Given the description of an element on the screen output the (x, y) to click on. 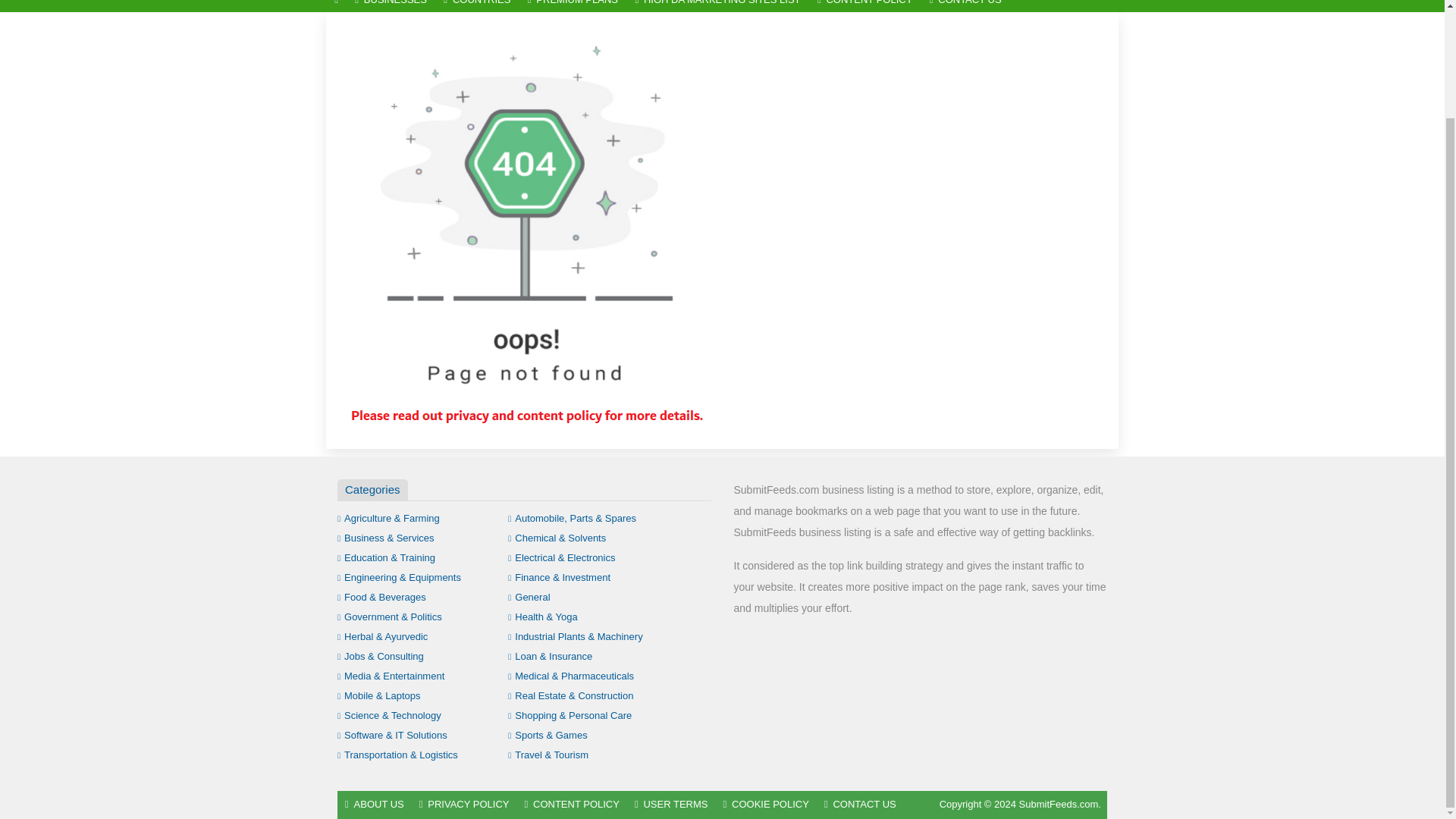
General (529, 596)
COUNTRIES (476, 6)
CONTACT US (965, 6)
PREMIUM PLANS (573, 6)
CONTENT POLICY (865, 6)
HIGH DA MARKETING SITES LIST (717, 6)
BUSINESSES (390, 6)
HOME (336, 6)
